Given the description of an element on the screen output the (x, y) to click on. 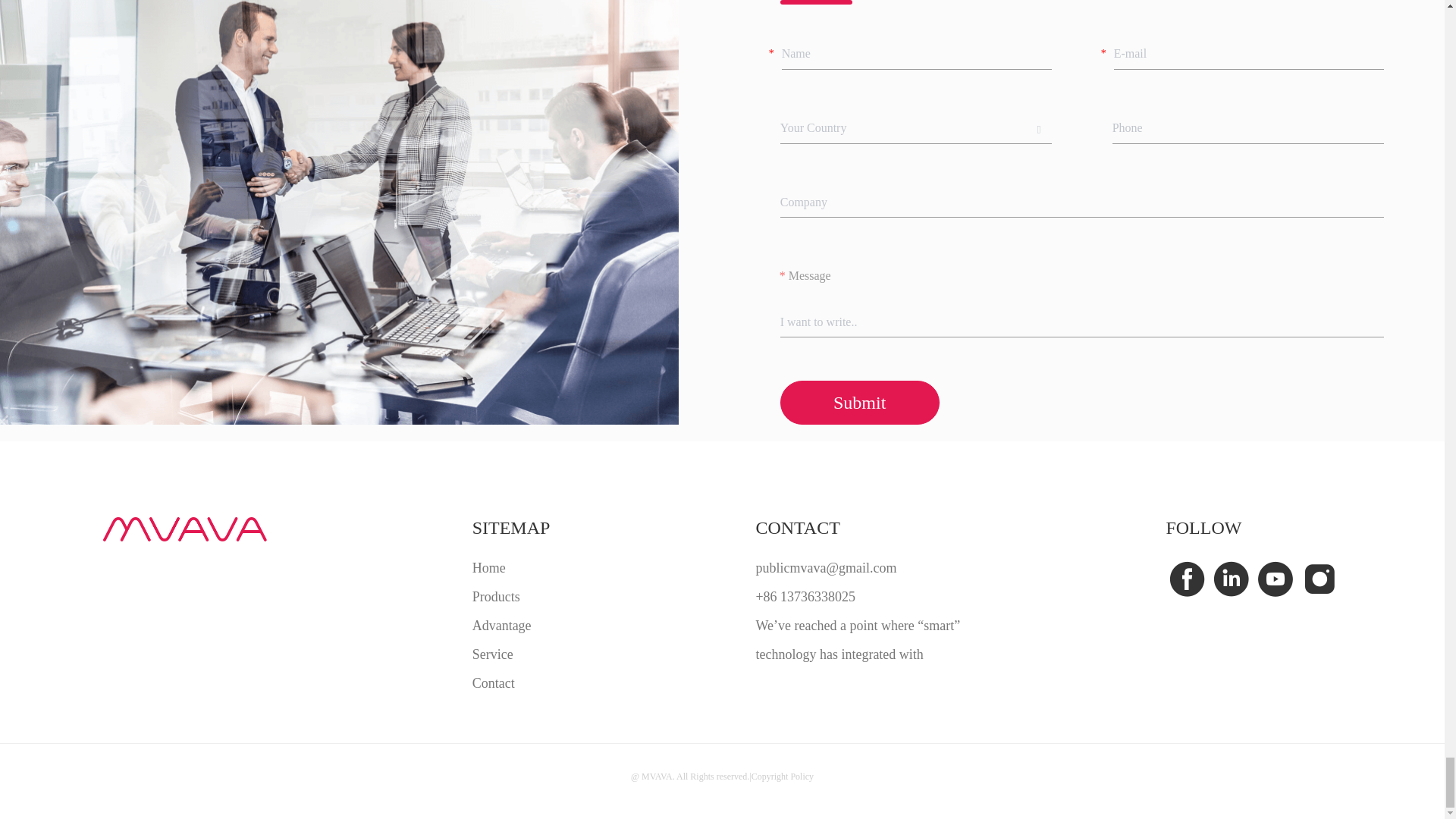
Home (510, 567)
Contact (510, 683)
Advantage (510, 624)
Service (510, 654)
Products (510, 596)
